Given the description of an element on the screen output the (x, y) to click on. 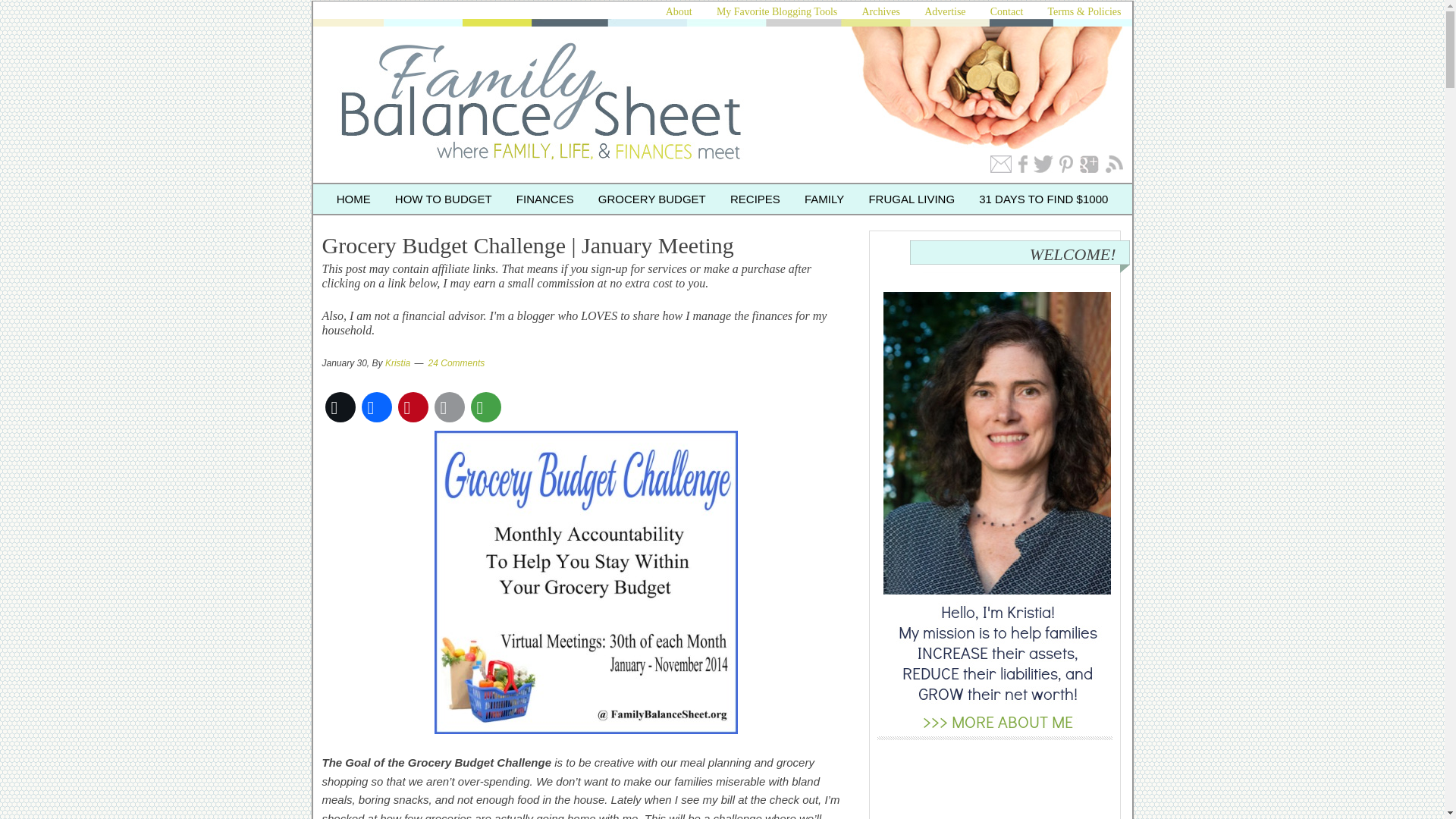
Facebook (376, 407)
HOME (353, 198)
RECIPES (754, 198)
GROCERY BUDGET (652, 198)
About (679, 11)
Family Balance Sheet (578, 97)
FAMILY (823, 198)
Contact (1006, 11)
Archives (880, 11)
HOW TO BUDGET (443, 198)
Email This (448, 407)
FINANCES (545, 198)
My Favorite Blogging Tools (776, 11)
More Options (485, 407)
Advertise (944, 11)
